Given the description of an element on the screen output the (x, y) to click on. 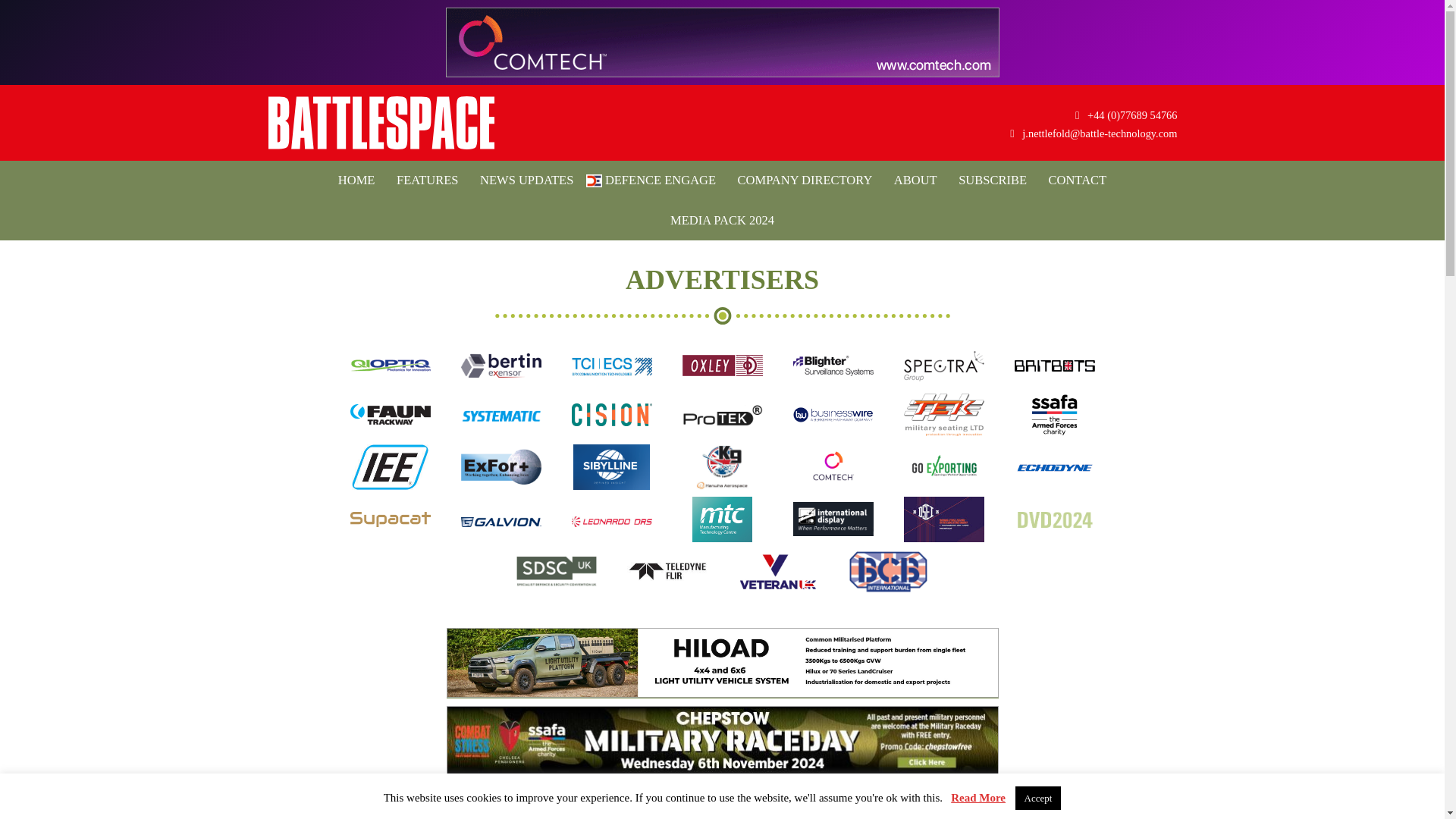
Opens PDF in new window. (722, 219)
FEATURES (427, 180)
NEWS UPDATES (526, 180)
MEDIA PACK 2024 (722, 219)
SUBSCRIBE (992, 180)
HOME (356, 180)
ABOUT (915, 180)
BATTLESPACE Updates (380, 122)
CONTACT (1077, 180)
DEFENCE ENGAGE (655, 180)
COMPANY DIRECTORY (805, 180)
qioptiq.com (390, 374)
